Given the description of an element on the screen output the (x, y) to click on. 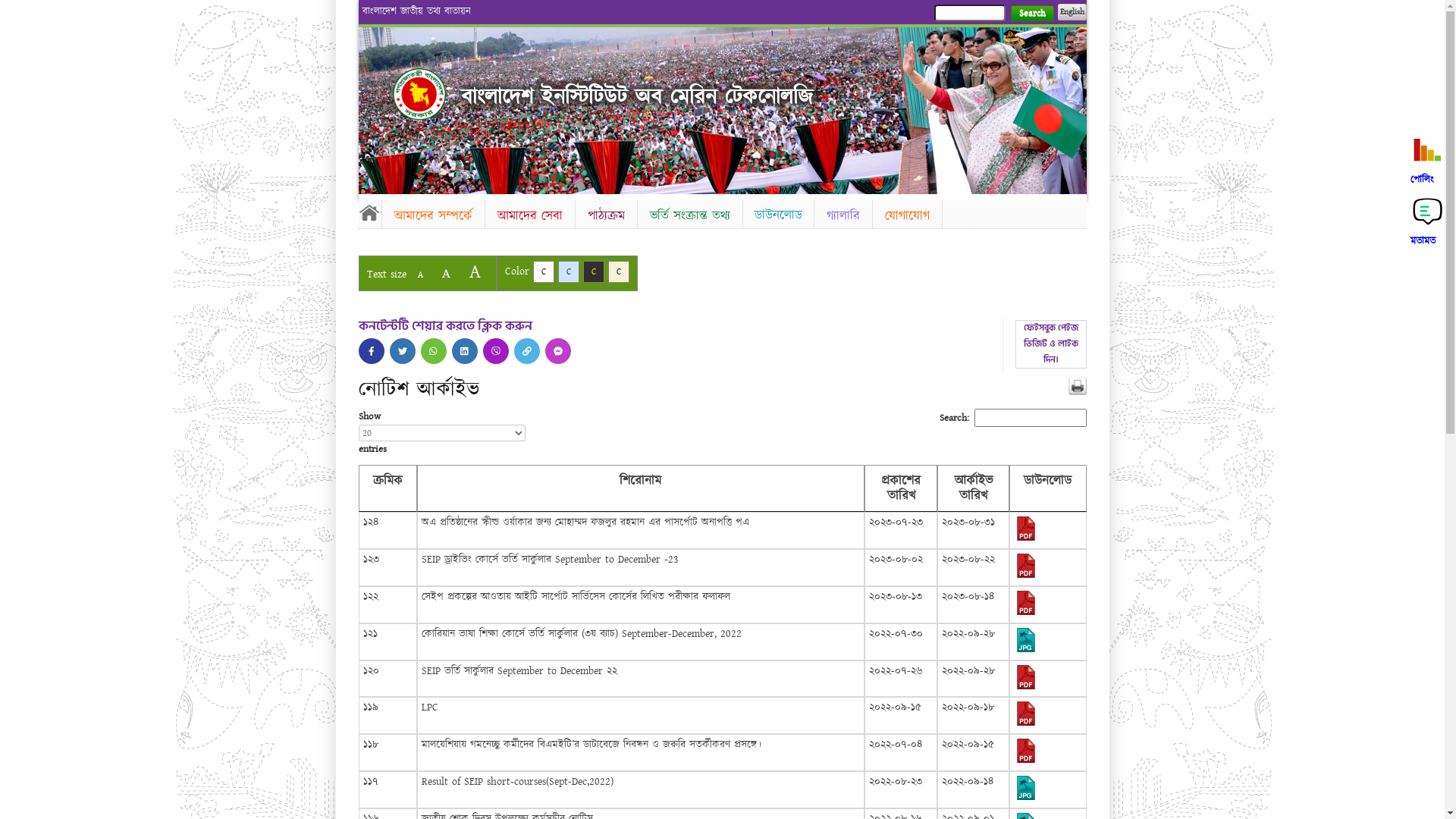
C Element type: text (618, 271)
A Element type: text (419, 274)
C Element type: text (592, 271)
English Element type: text (1071, 11)
A Element type: text (445, 273)
Search Element type: text (1031, 13)
A Element type: text (474, 271)
C Element type: text (568, 271)

    
     Element type: hover (464, 351)

					
				 Element type: hover (418, 93)
C Element type: text (542, 271)
